Given the description of an element on the screen output the (x, y) to click on. 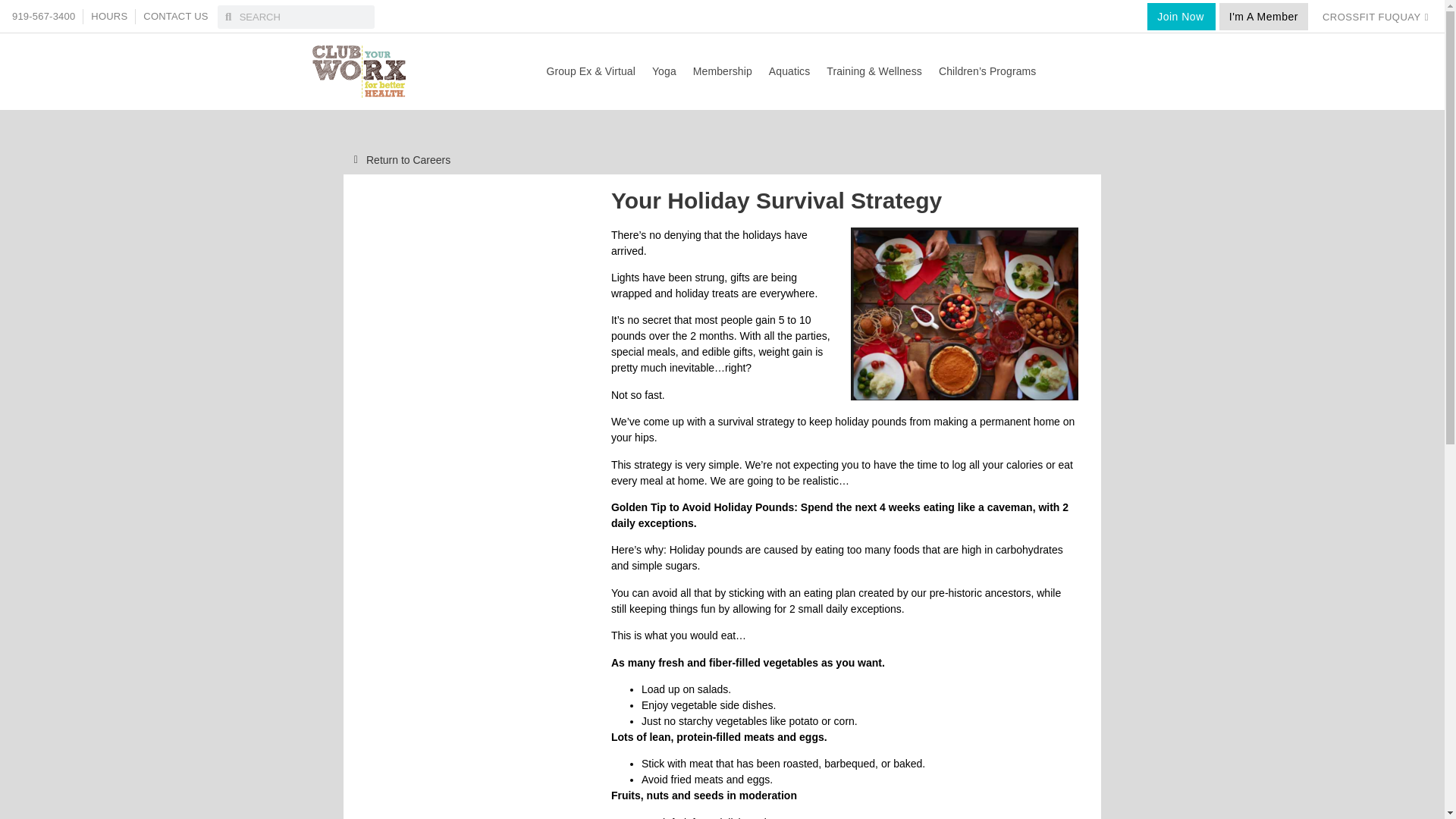
Aquatics (789, 70)
HOURS (109, 16)
Yoga (663, 70)
Join Now (1181, 16)
ClubWorxLogo (359, 71)
I'm A Member (1263, 16)
CROSSFIT FUQUAY (1375, 16)
919-567-3400 (43, 16)
Membership (722, 70)
CONTACT US (175, 16)
